Given the description of an element on the screen output the (x, y) to click on. 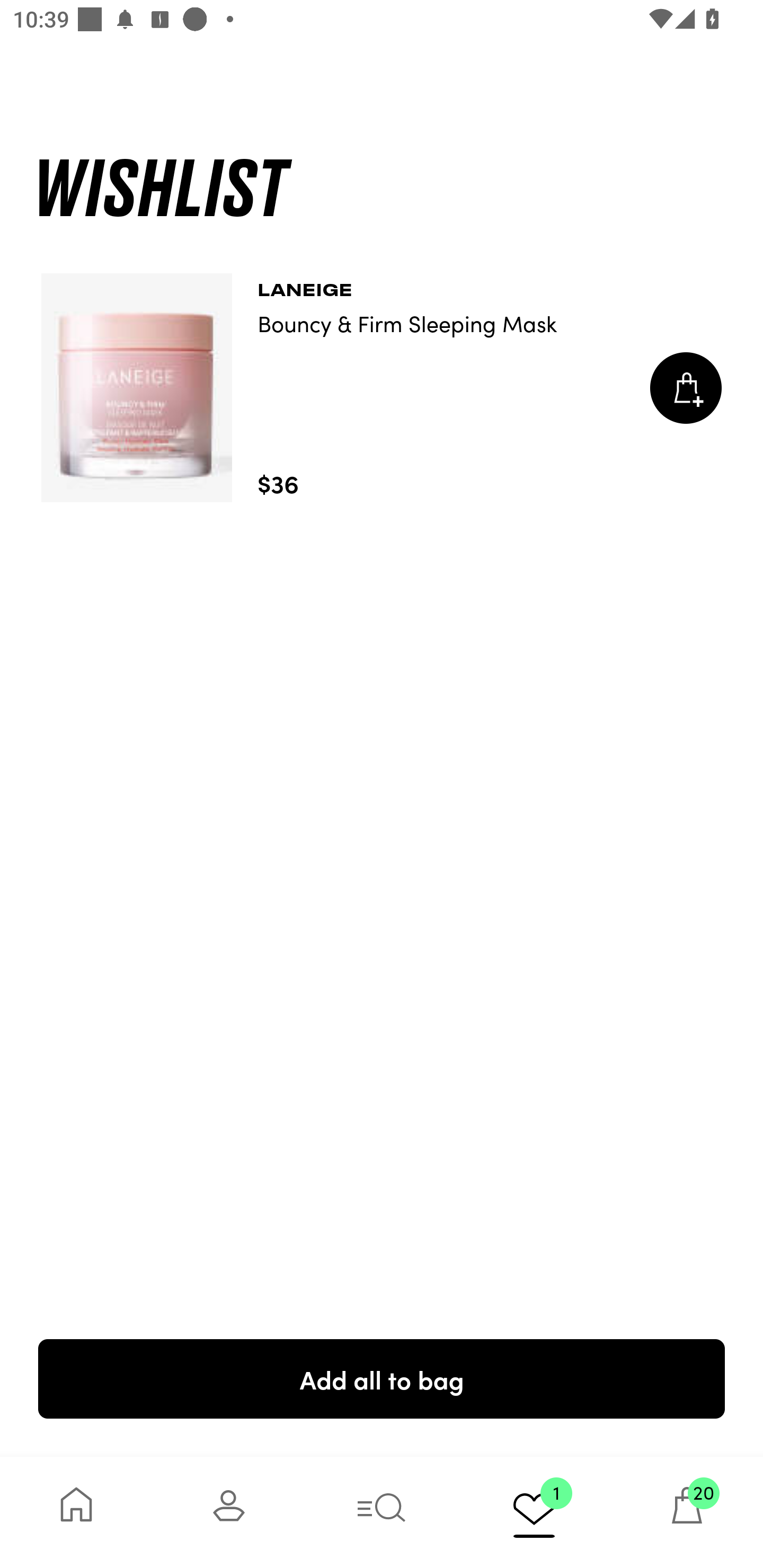
LANEIGE Bouncy & Firm Sleeping Mask $36 (381, 388)
Add all to bag (381, 1379)
1 (533, 1512)
20 (686, 1512)
